Given the description of an element on the screen output the (x, y) to click on. 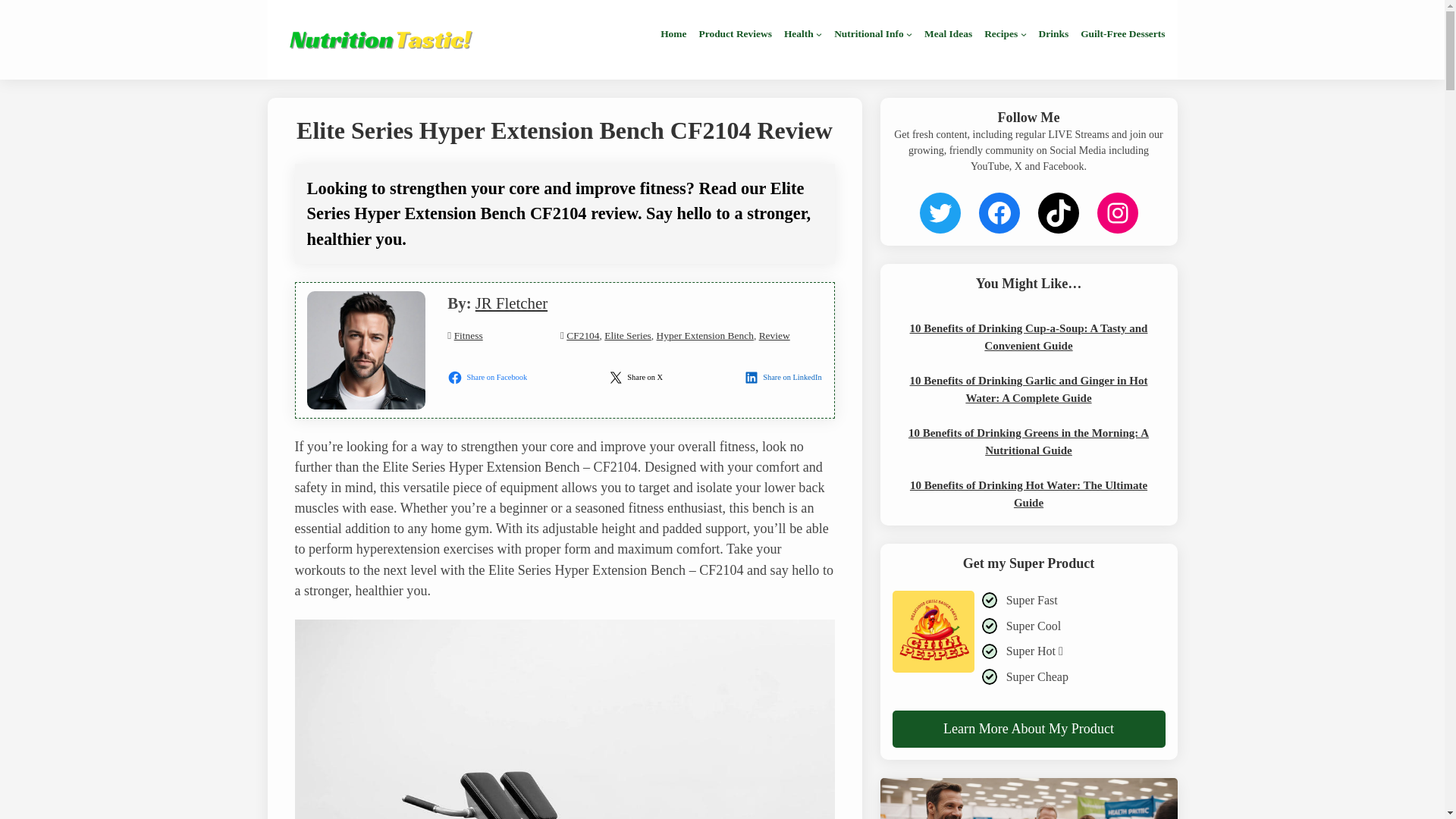
Review (774, 335)
Drinks (1053, 33)
Share on X (637, 377)
Home (673, 33)
JR Fletcher (511, 303)
Elite Series (627, 335)
Health (798, 33)
Guilt-Free Desserts (1122, 33)
Share on Facebook (488, 377)
Fitness (468, 335)
Product Reviews (734, 33)
Hyper Extension Bench (705, 335)
Nutritional Info (868, 33)
Recipes (1000, 33)
Share on LinkedIn (784, 377)
